Given the description of an element on the screen output the (x, y) to click on. 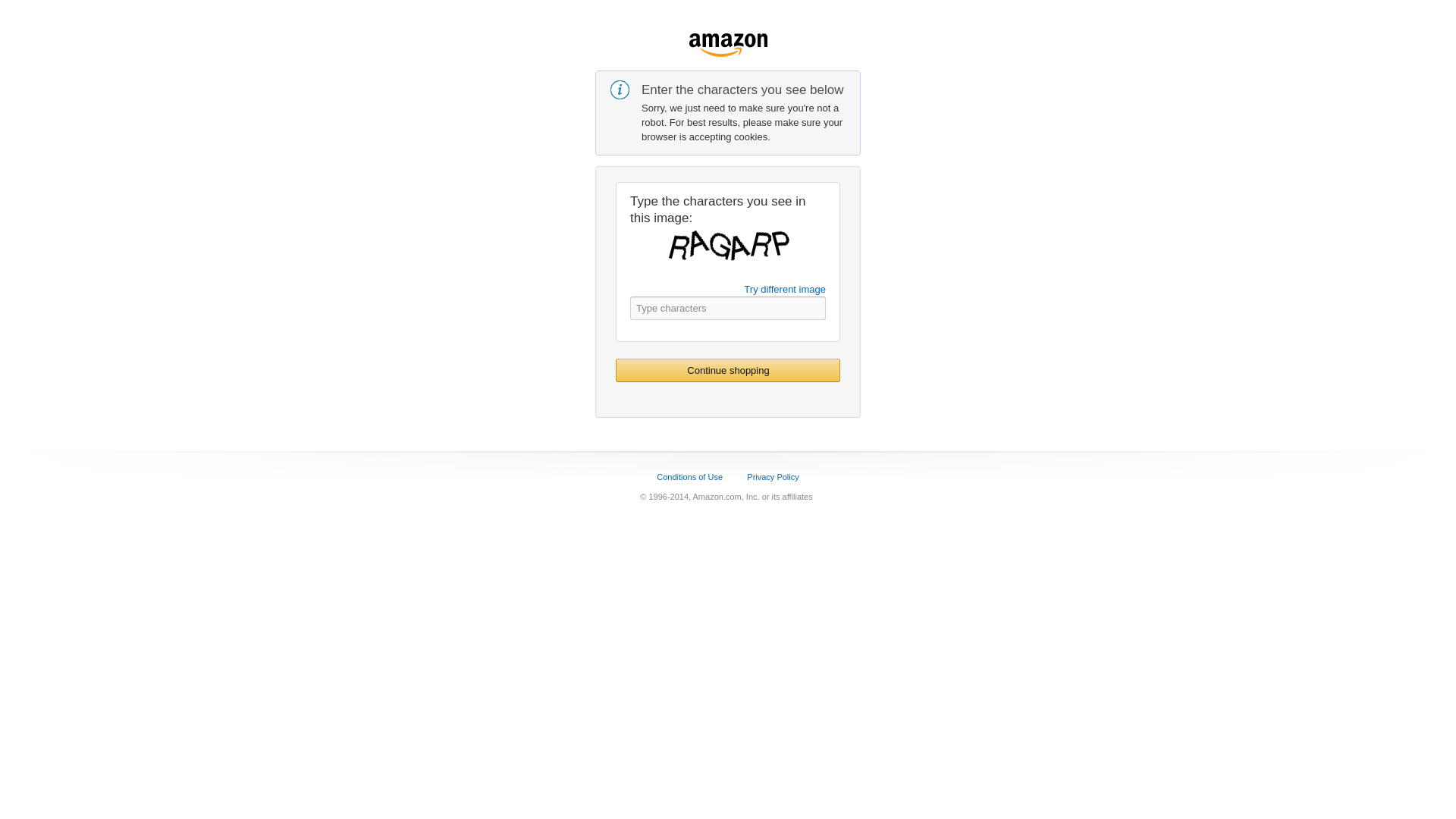
Conditions of Use (689, 476)
Try different image (784, 288)
Continue shopping (727, 370)
Privacy Policy (771, 476)
